Given the description of an element on the screen output the (x, y) to click on. 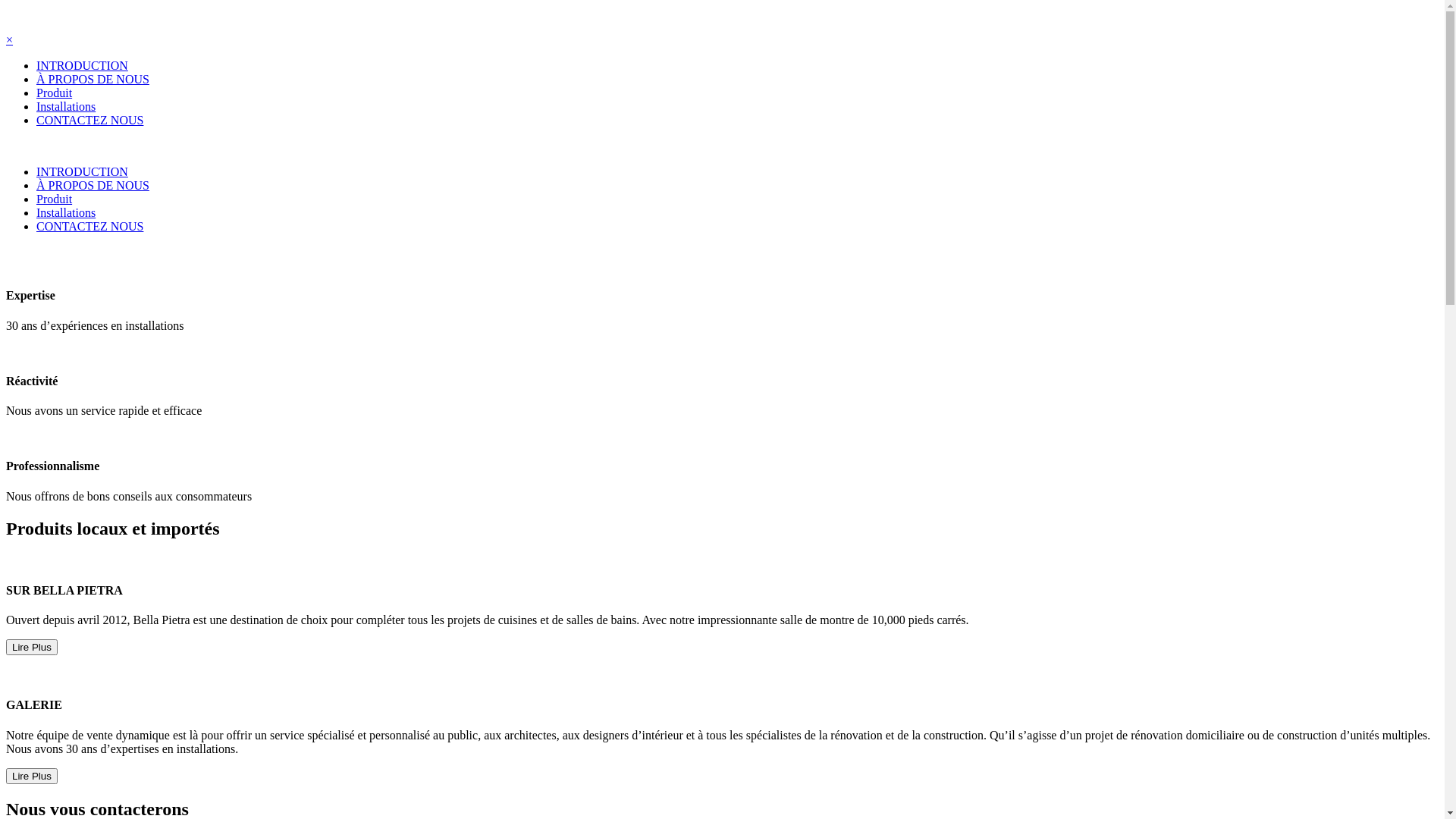
CONTACTEZ NOUS Element type: text (89, 225)
INTRODUCTION Element type: text (82, 65)
Installations Element type: text (65, 212)
Lire Plus Element type: text (31, 646)
Produit Element type: text (54, 92)
Produit Element type: text (54, 198)
Lire Plus Element type: text (31, 647)
CONTACTEZ NOUS Element type: text (89, 119)
INTRODUCTION Element type: text (82, 171)
Installations Element type: text (65, 106)
Lire Plus Element type: text (31, 774)
Lire Plus Element type: text (31, 776)
